Given the description of an element on the screen output the (x, y) to click on. 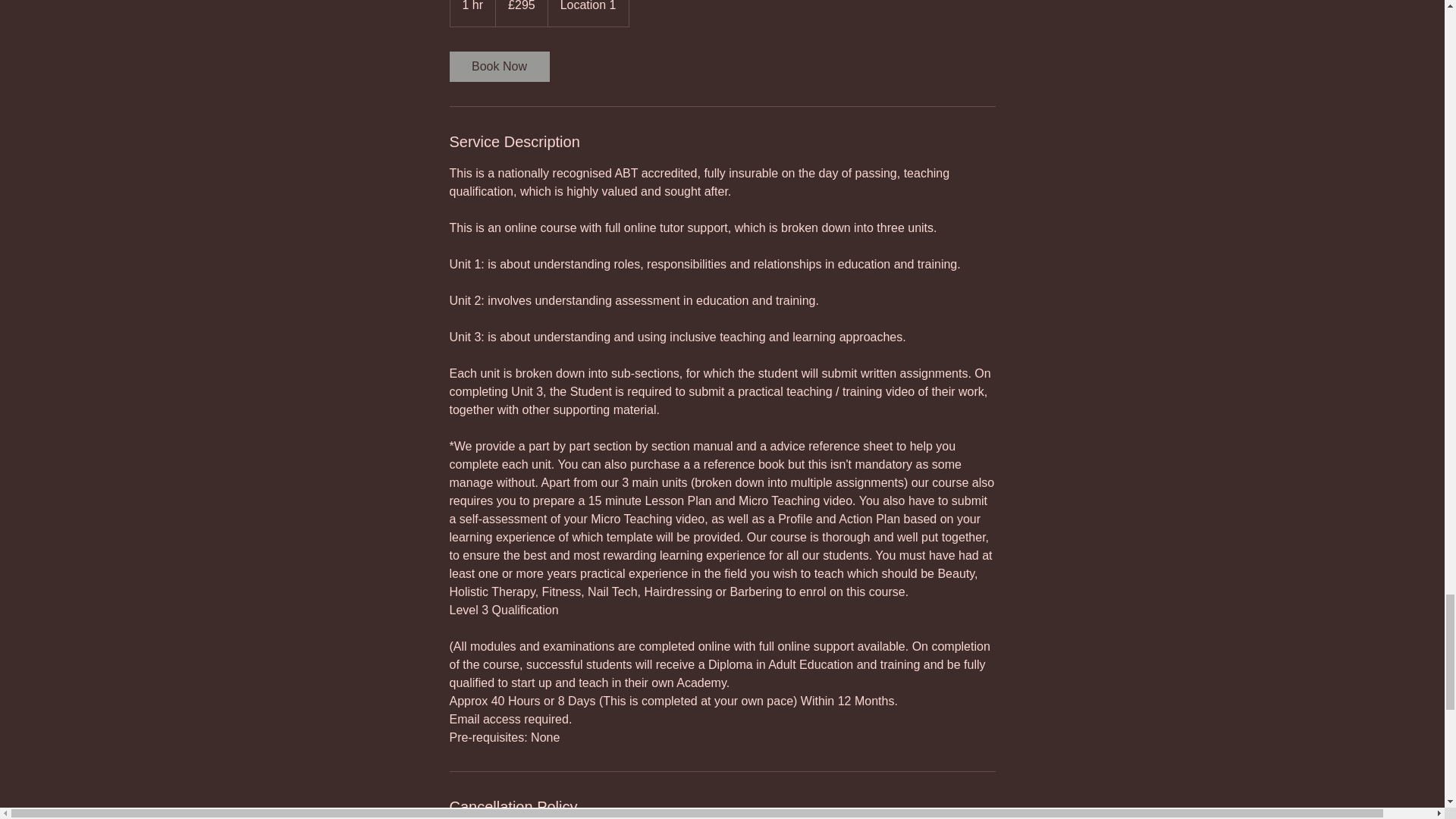
Book Now (498, 66)
